Given the description of an element on the screen output the (x, y) to click on. 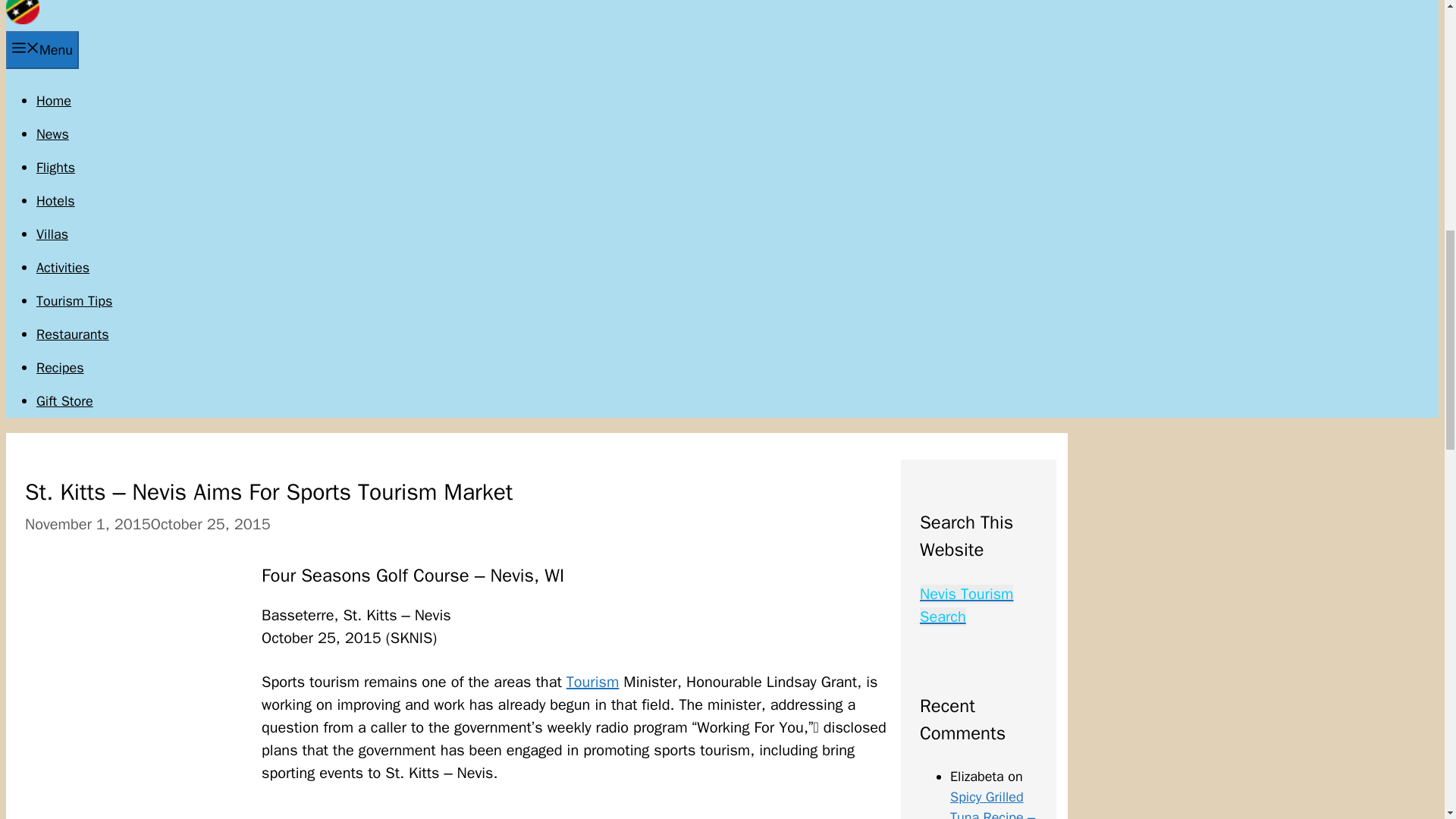
Home (53, 100)
Activities (62, 267)
Restaurants (72, 334)
Nevis Island News and Notes (22, 19)
Recipes (60, 367)
Flights (55, 167)
Nevis News (52, 134)
Tourism Tips (74, 300)
Villas (52, 234)
News (52, 134)
